Given the description of an element on the screen output the (x, y) to click on. 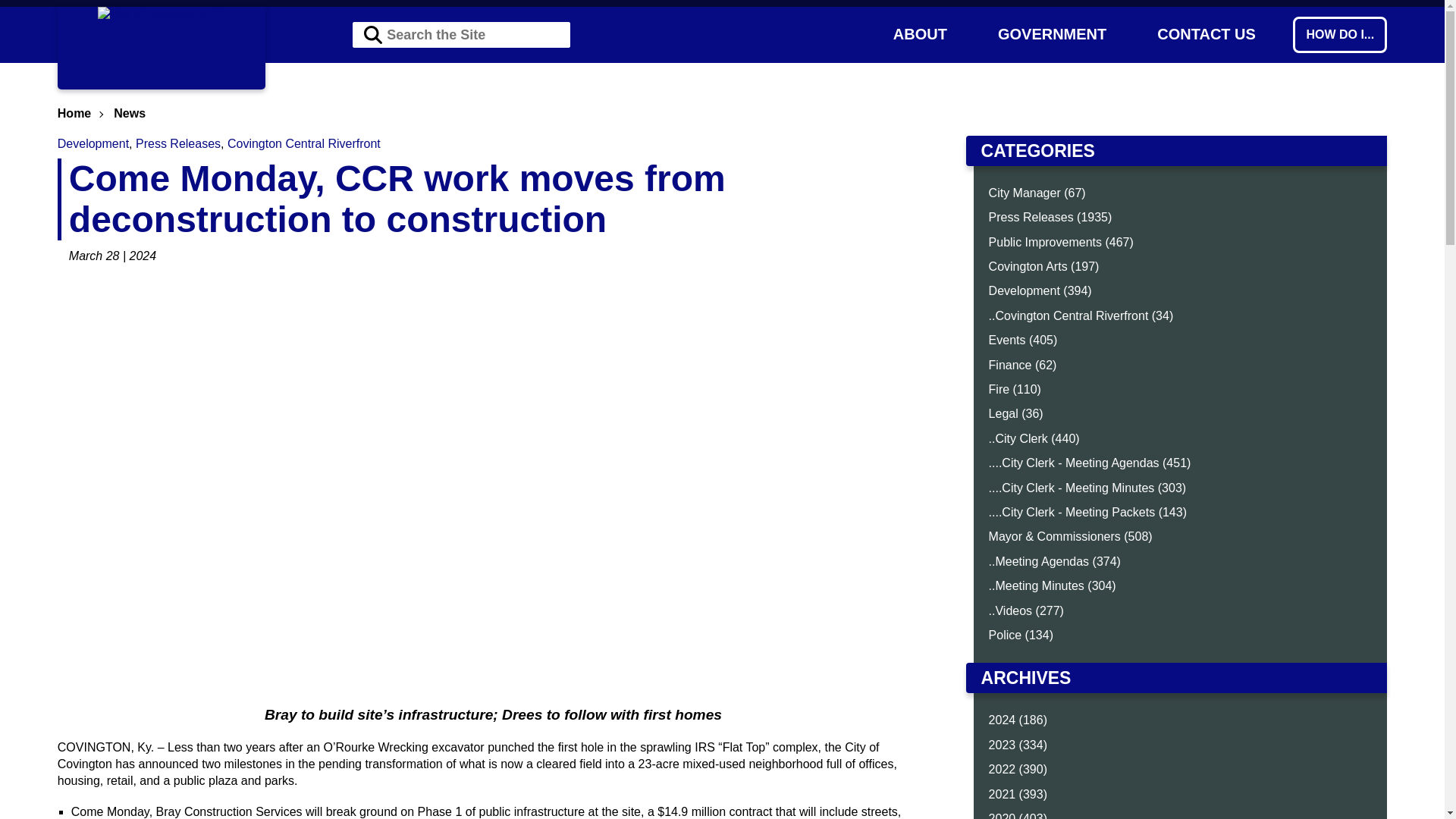
CONTACT US (1206, 33)
Press Releases (178, 143)
Home (74, 113)
ABOUT (919, 33)
Development (93, 143)
Covington Central Riverfront (303, 143)
GOVERNMENT (1051, 33)
News (129, 113)
search input (461, 34)
HOW DO I... (1339, 34)
